Given the description of an element on the screen output the (x, y) to click on. 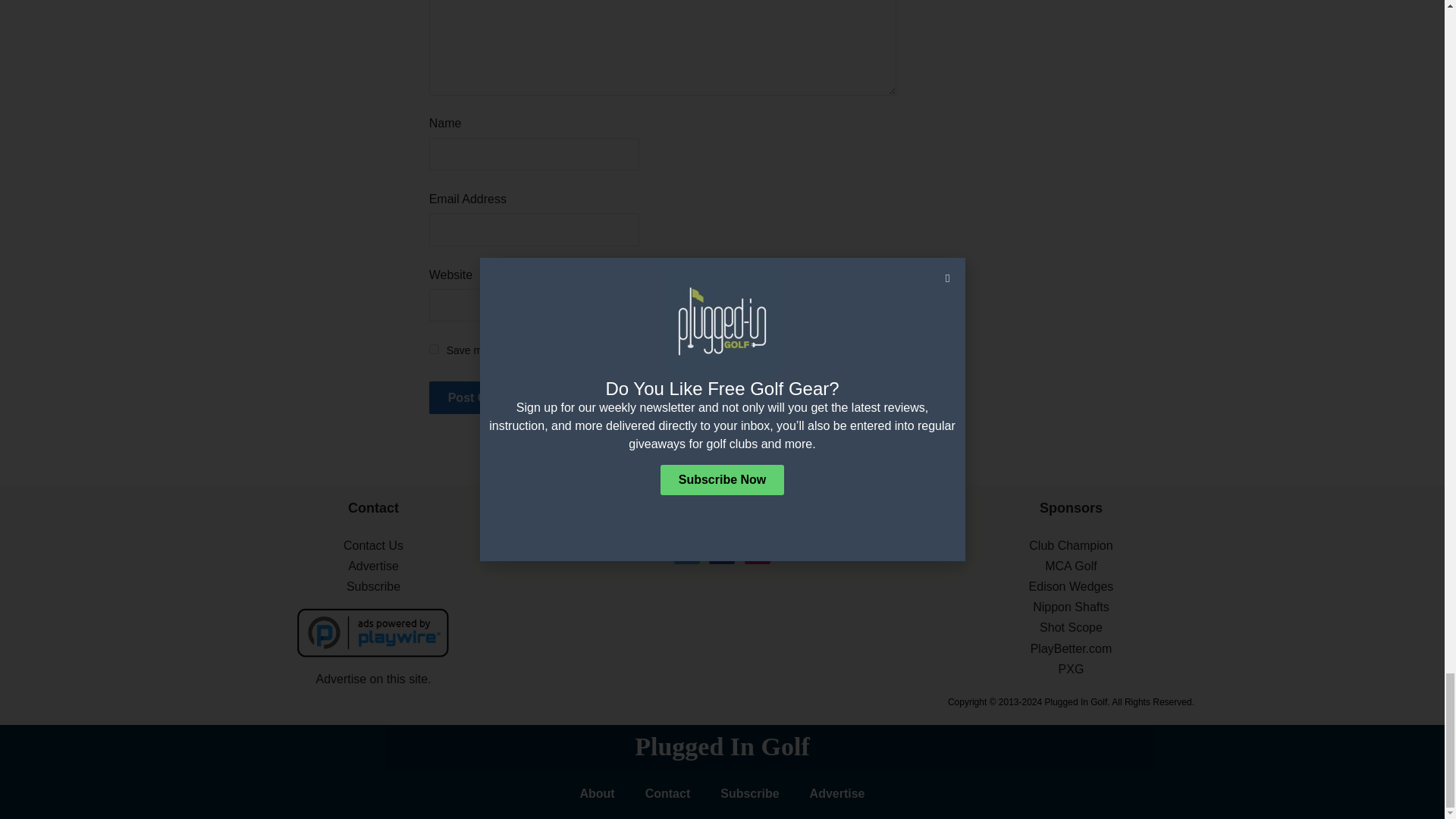
Friend me on Facebook (722, 549)
Post Comment (491, 397)
Follow Me (687, 549)
Instagram (757, 549)
yes (434, 348)
